Given the description of an element on the screen output the (x, y) to click on. 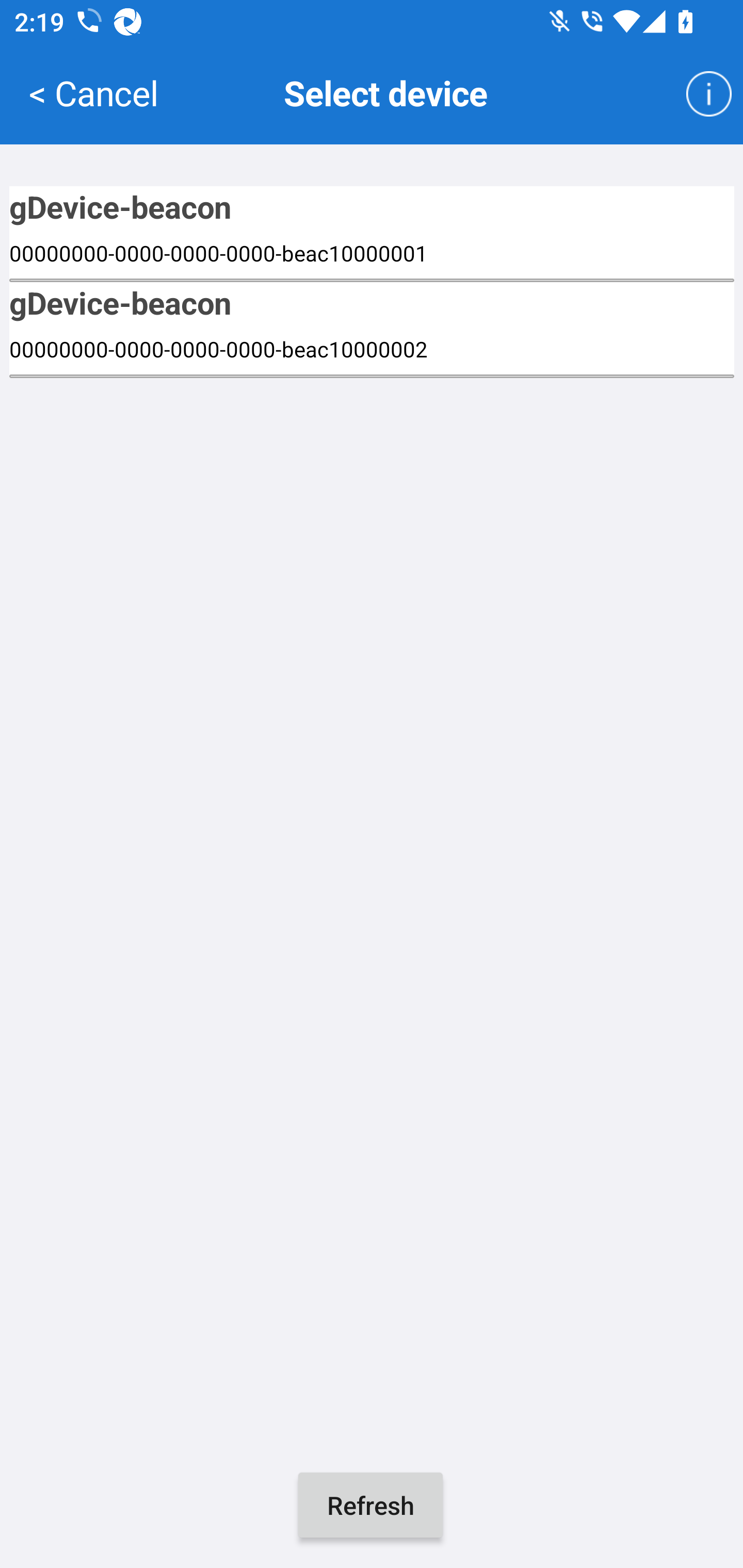
< Cancel (93, 92)
Refresh (370, 1505)
